Given the description of an element on the screen output the (x, y) to click on. 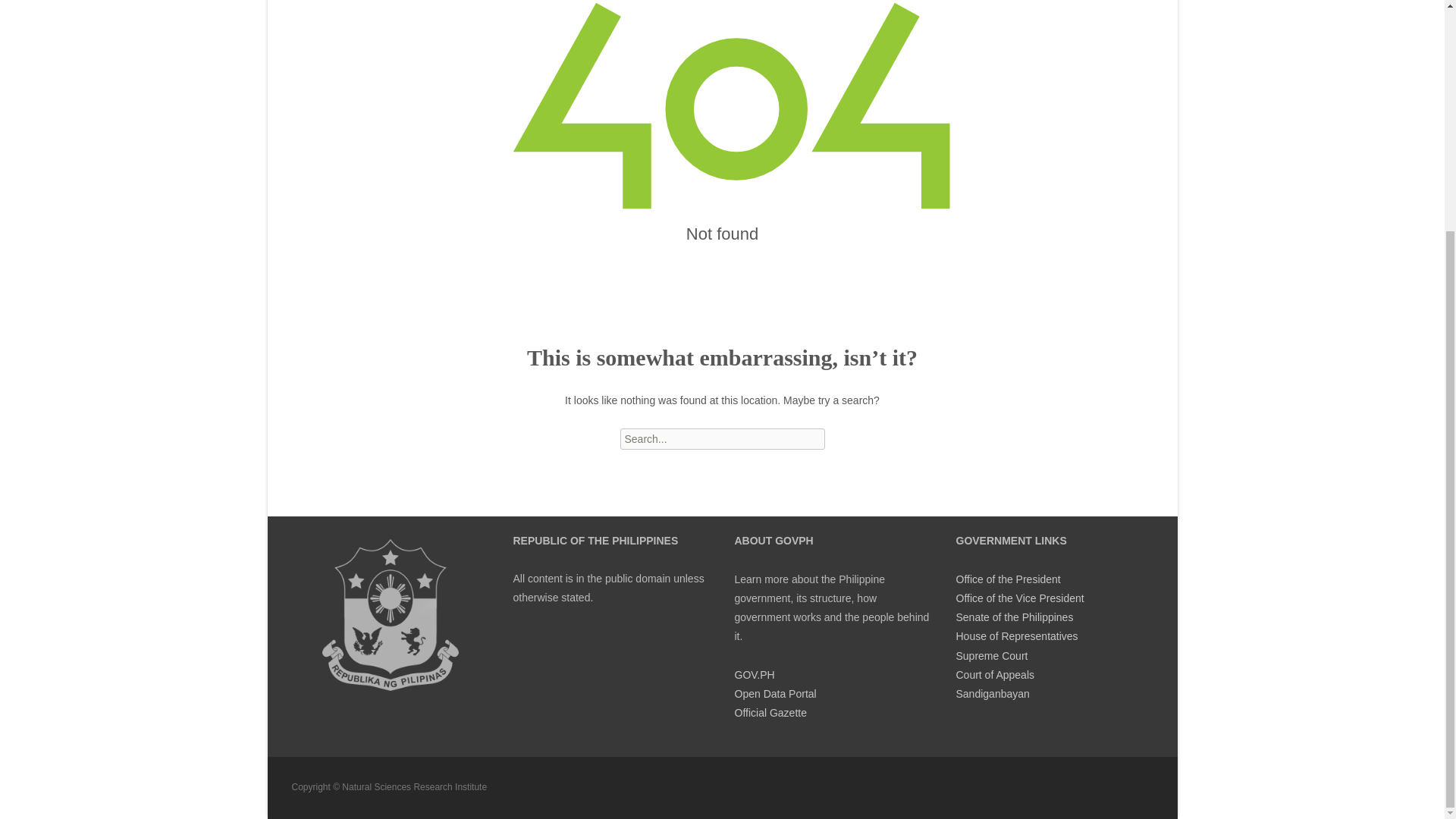
Sandiganbayan (992, 693)
House of Representatives (1016, 635)
GOV.PH (753, 674)
Official Gazette (769, 712)
Senate of the Philippines (1014, 616)
Open Data Portal (774, 693)
Office of the Vice President (1019, 598)
Court of Appeals (994, 674)
Search for: (722, 438)
Supreme Court (991, 655)
